Given the description of an element on the screen output the (x, y) to click on. 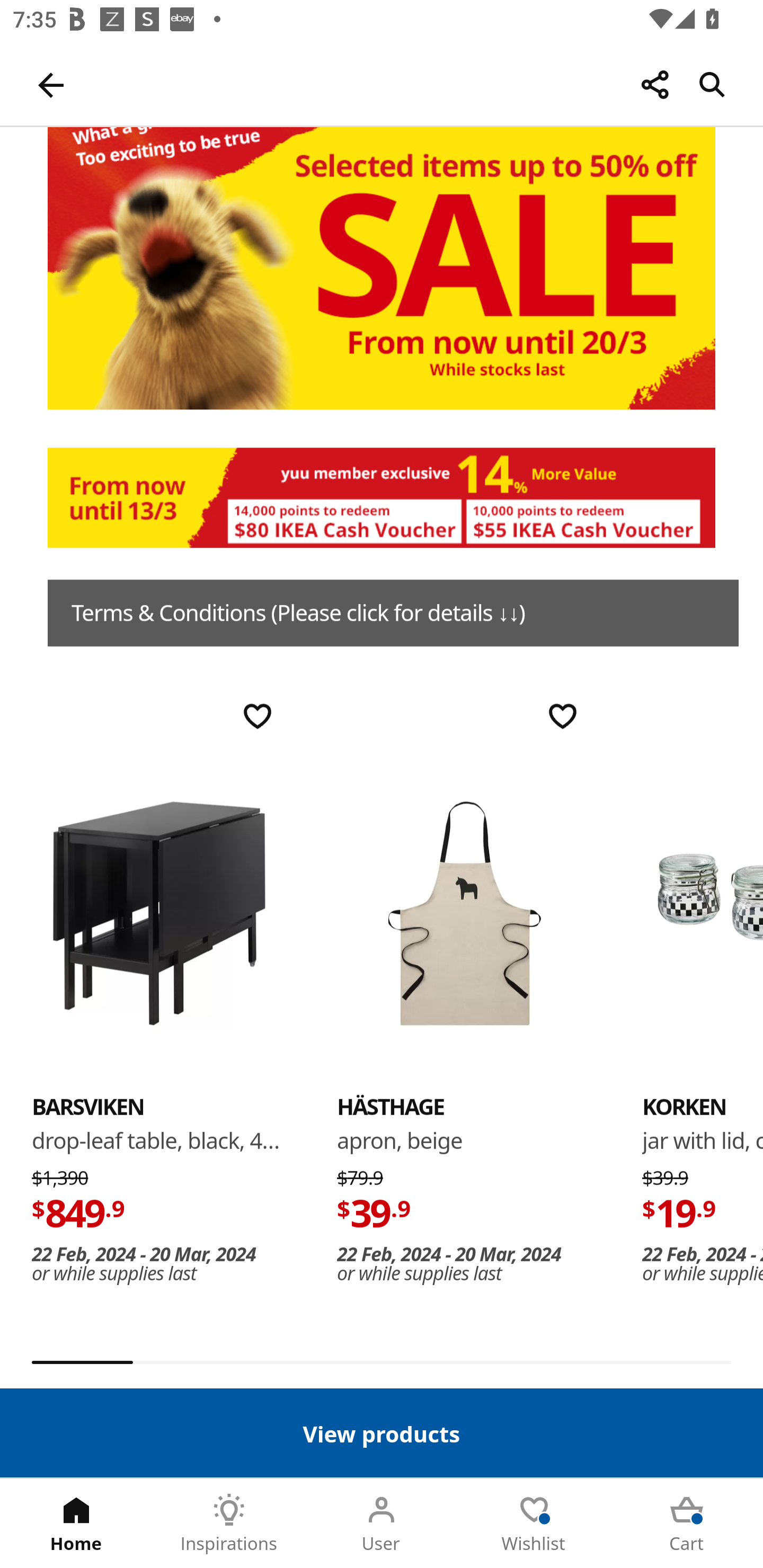
Terms & Conditions (Please click for details ↓↓) (393, 613)
BARSVIKEN (159, 913)
HÄSTHAGE (464, 913)
KORKEN (702, 913)
BARSVIKEN (88, 1106)
HÄSTHAGE (390, 1106)
KORKEN (684, 1106)
View products (381, 1432)
Home
Tab 1 of 5 (76, 1522)
Inspirations
Tab 2 of 5 (228, 1522)
User
Tab 3 of 5 (381, 1522)
Wishlist
Tab 4 of 5 (533, 1522)
Cart
Tab 5 of 5 (686, 1522)
